Given the description of an element on the screen output the (x, y) to click on. 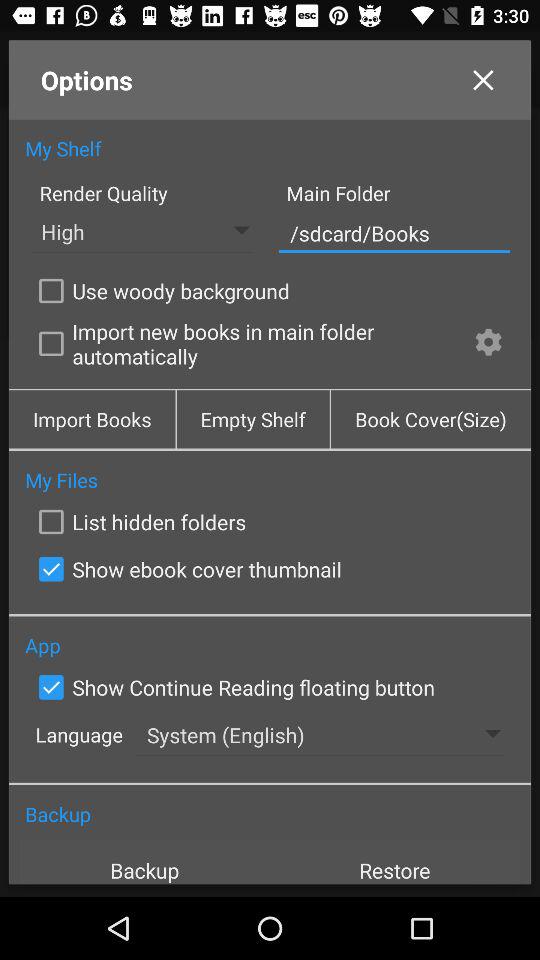
select list hidden folders icon (138, 522)
